Given the description of an element on the screen output the (x, y) to click on. 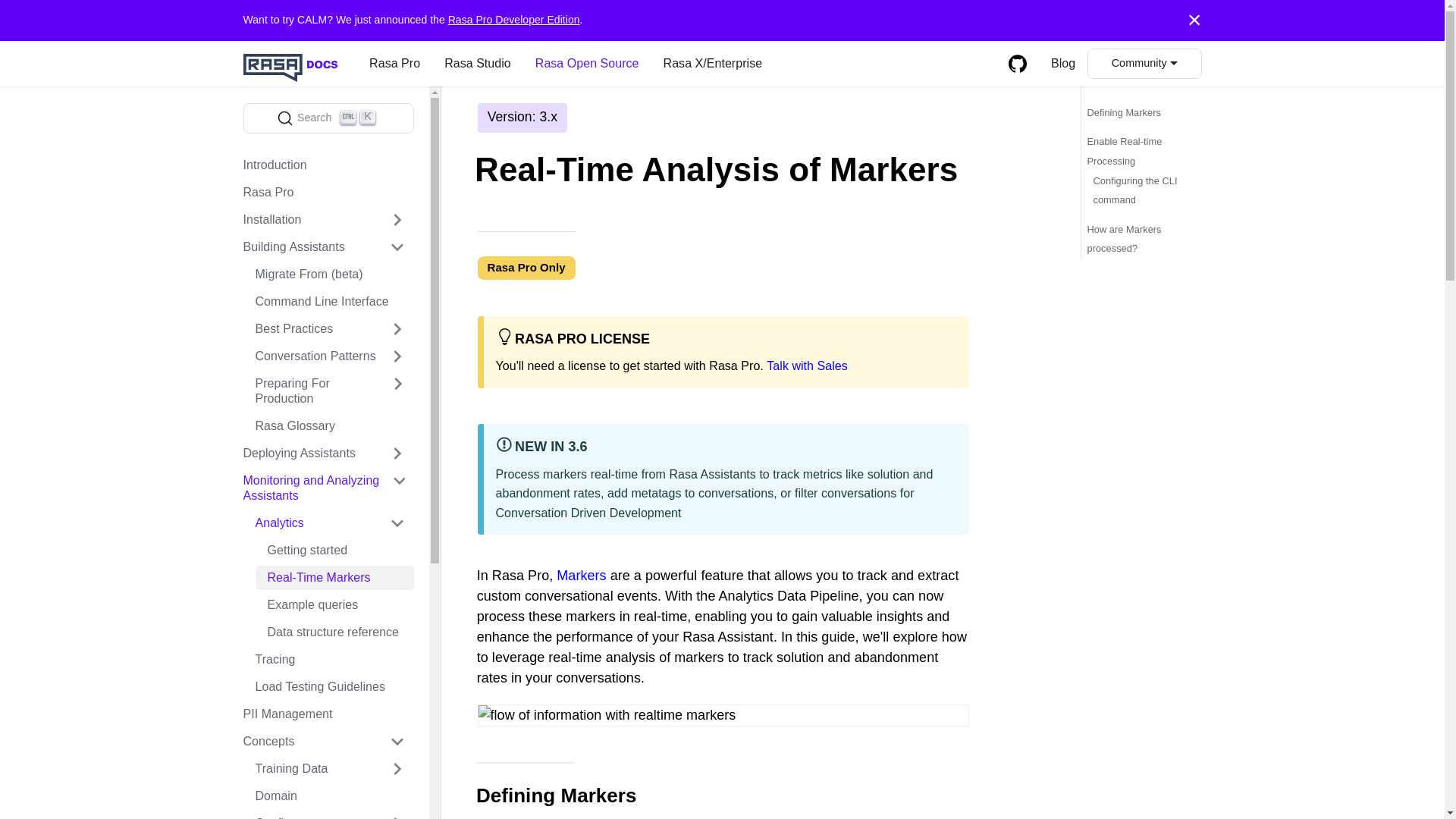
Introduction (321, 165)
Command Line Interface (328, 301)
Installation (321, 219)
Rasa Pro (321, 192)
Rasa Studio (477, 63)
Building Assistants (321, 247)
Best Practices (328, 328)
Rasa Pro Developer Edition (513, 19)
Conversation Patterns (328, 355)
Community (1144, 63)
Preparing For Production (328, 391)
Rasa Pro (394, 63)
Blog (1063, 63)
Rasa Open Source (328, 118)
